Given the description of an element on the screen output the (x, y) to click on. 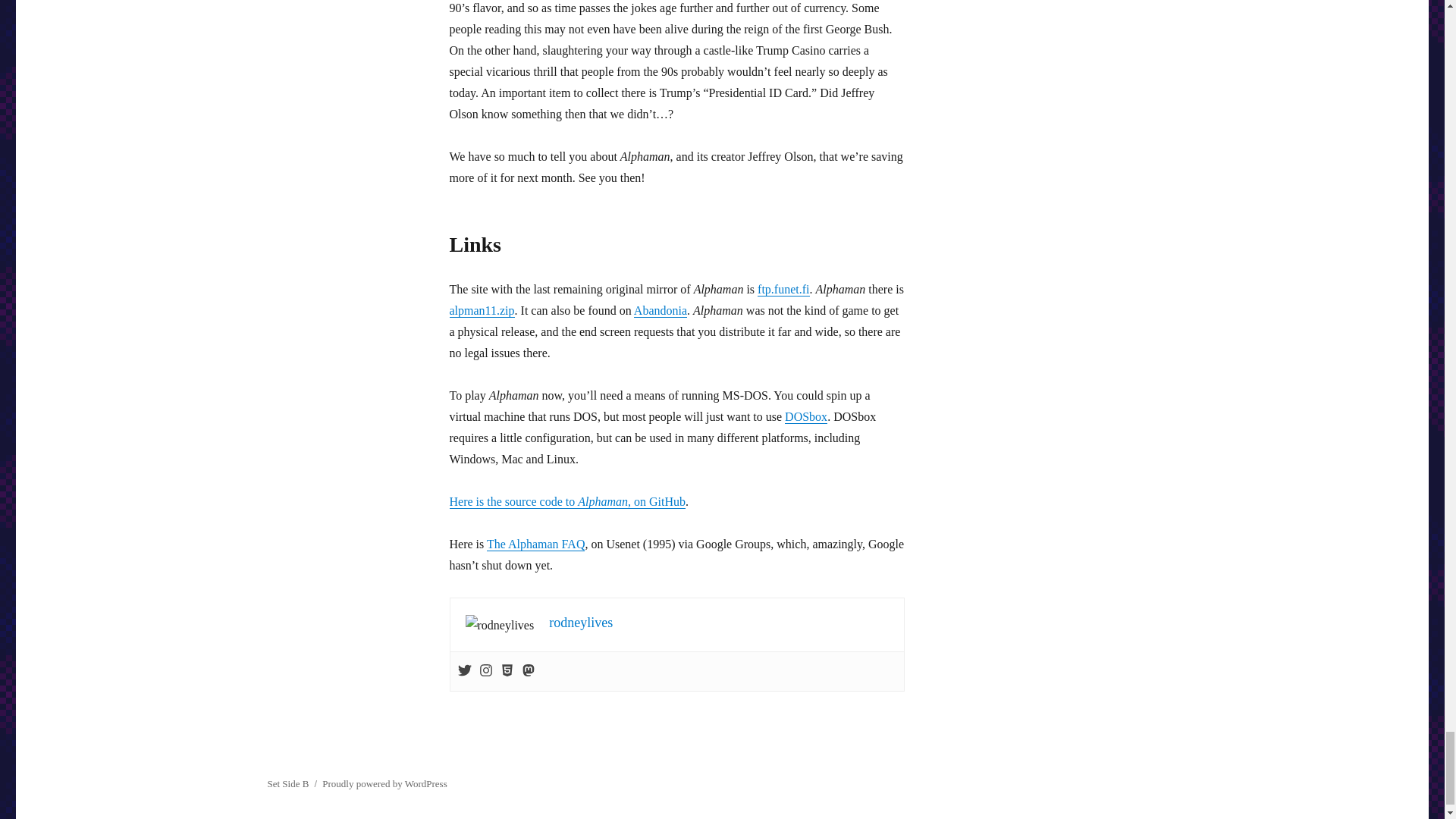
rodneylives (580, 622)
ftp.funet.fi (783, 288)
DOSbox (805, 416)
The Alphaman FAQ (535, 543)
Here is the source code to Alphaman, on GitHub (566, 501)
Abandonia (660, 309)
alpman11.zip (480, 309)
